Given the description of an element on the screen output the (x, y) to click on. 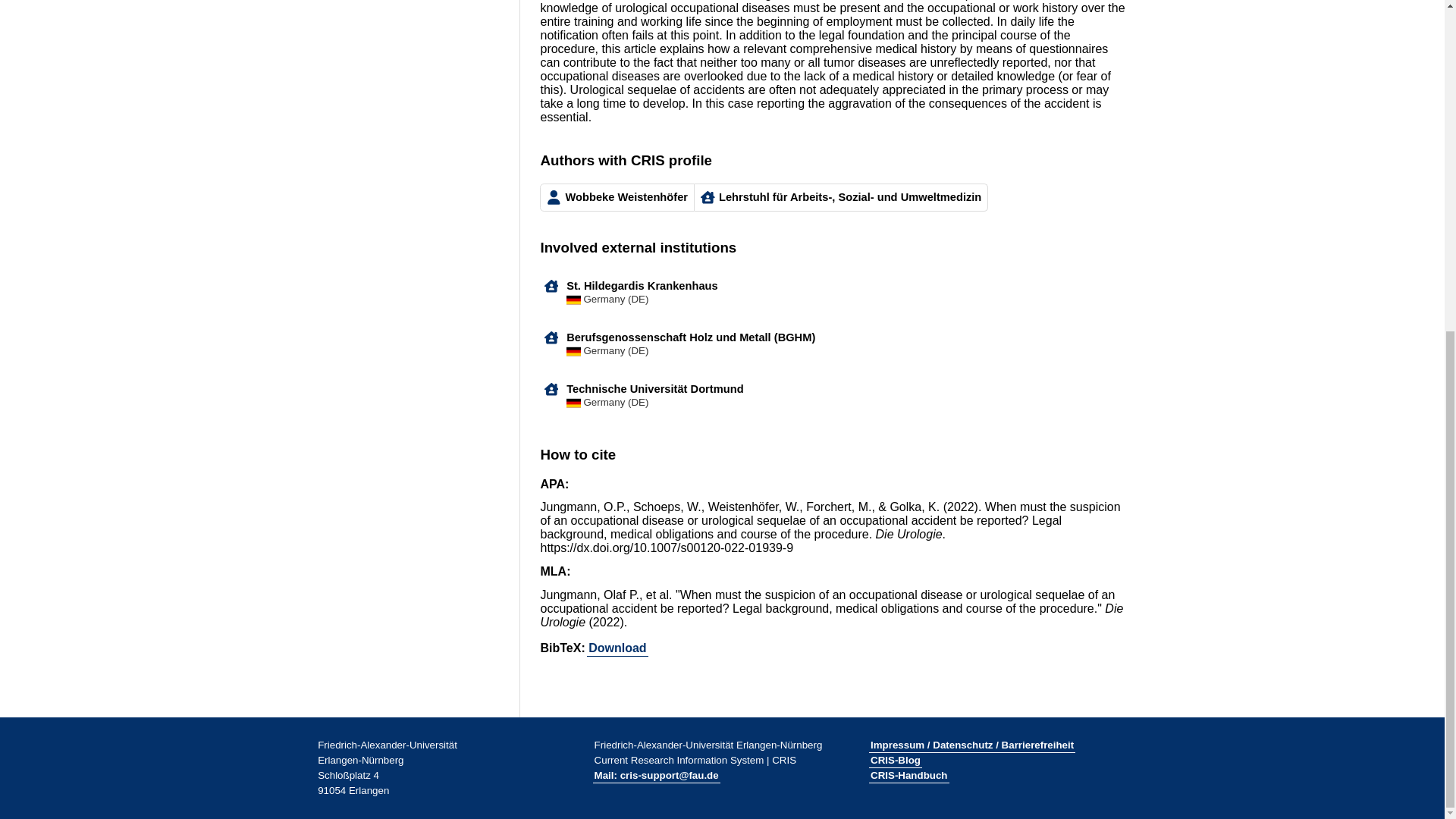
CRIS-Blog (895, 760)
CRIS-Handbuch (909, 775)
Download (616, 647)
